Given the description of an element on the screen output the (x, y) to click on. 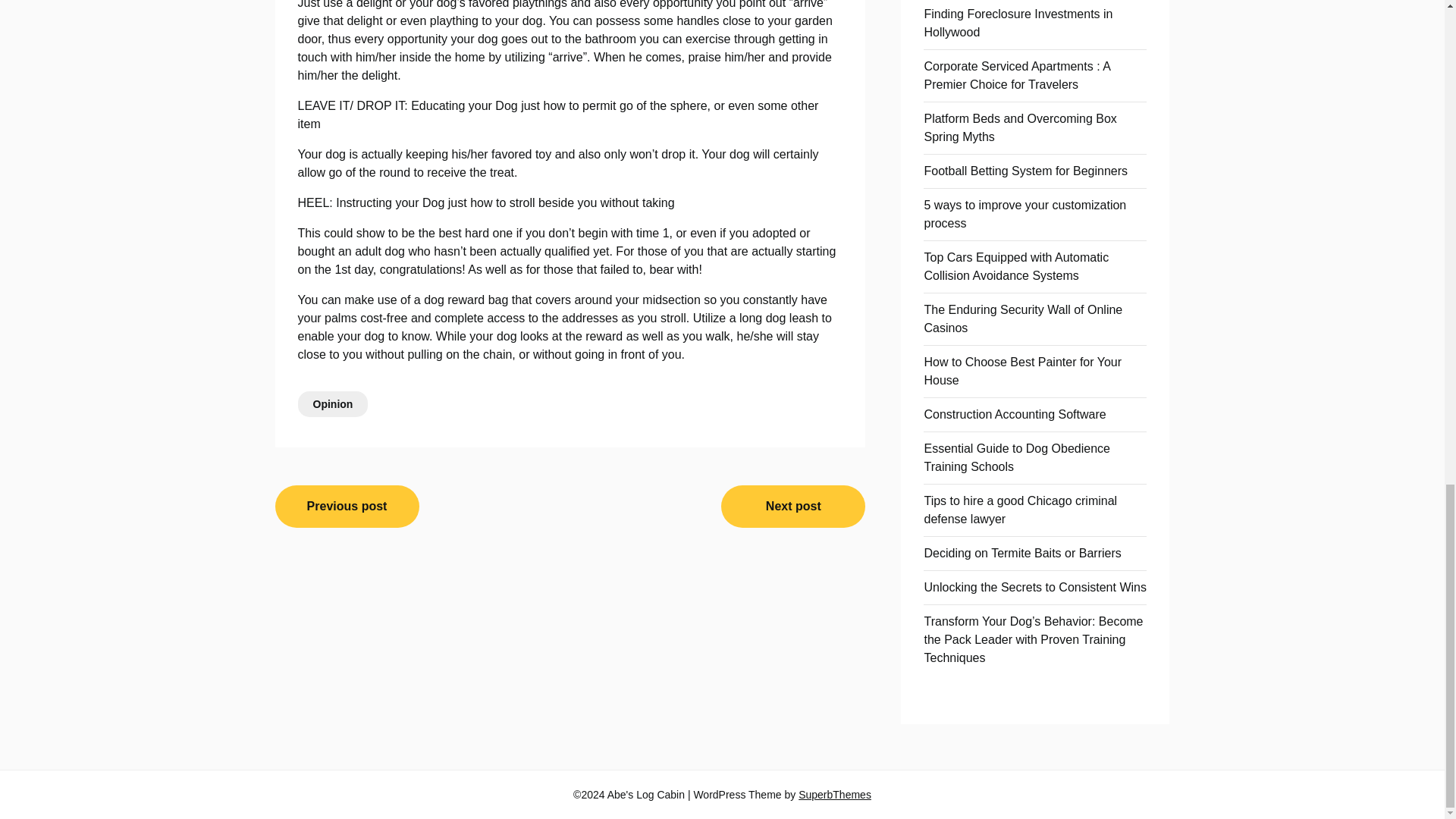
How to Choose Best Painter for Your House (1022, 370)
Tips to hire a good Chicago criminal defense lawyer (1019, 509)
The Enduring Security Wall of Online Casinos (1022, 318)
Next post (792, 506)
SuperbThemes (833, 794)
Essential Guide to Dog Obedience Training Schools (1016, 457)
Football Betting System for Beginners (1024, 170)
Construction Accounting Software (1014, 413)
Top Cars Equipped with Automatic Collision Avoidance Systems (1015, 265)
Unlocking the Secrets to Consistent Wins (1034, 586)
Deciding on Termite Baits or Barriers (1022, 553)
5 ways to improve your customization process (1024, 214)
Opinion (332, 403)
Finding Foreclosure Investments in Hollywood (1017, 22)
